Given the description of an element on the screen output the (x, y) to click on. 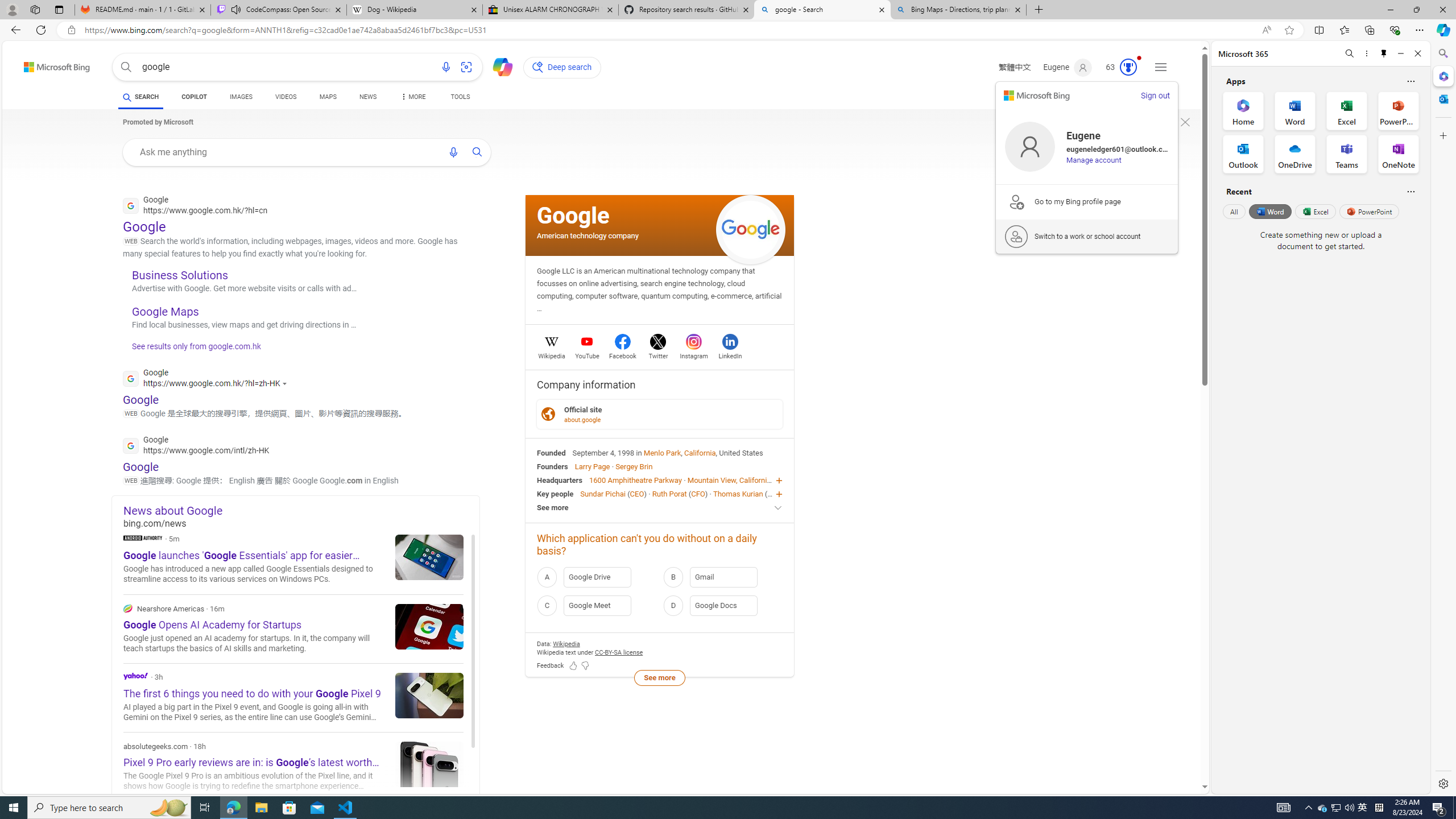
Is this helpful? (1410, 191)
Animation (1139, 57)
Official siteabout.google (660, 414)
IMAGES (241, 98)
YouTube (587, 354)
absolutegeeks.com (293, 766)
1600 Amphitheatre Parkway (635, 479)
The first 6 things you need to do with your Google Pixel 9 (428, 695)
Global web icon (130, 445)
CEO (774, 492)
LinkedIn (729, 354)
Back to Bing search (50, 64)
